Given the description of an element on the screen output the (x, y) to click on. 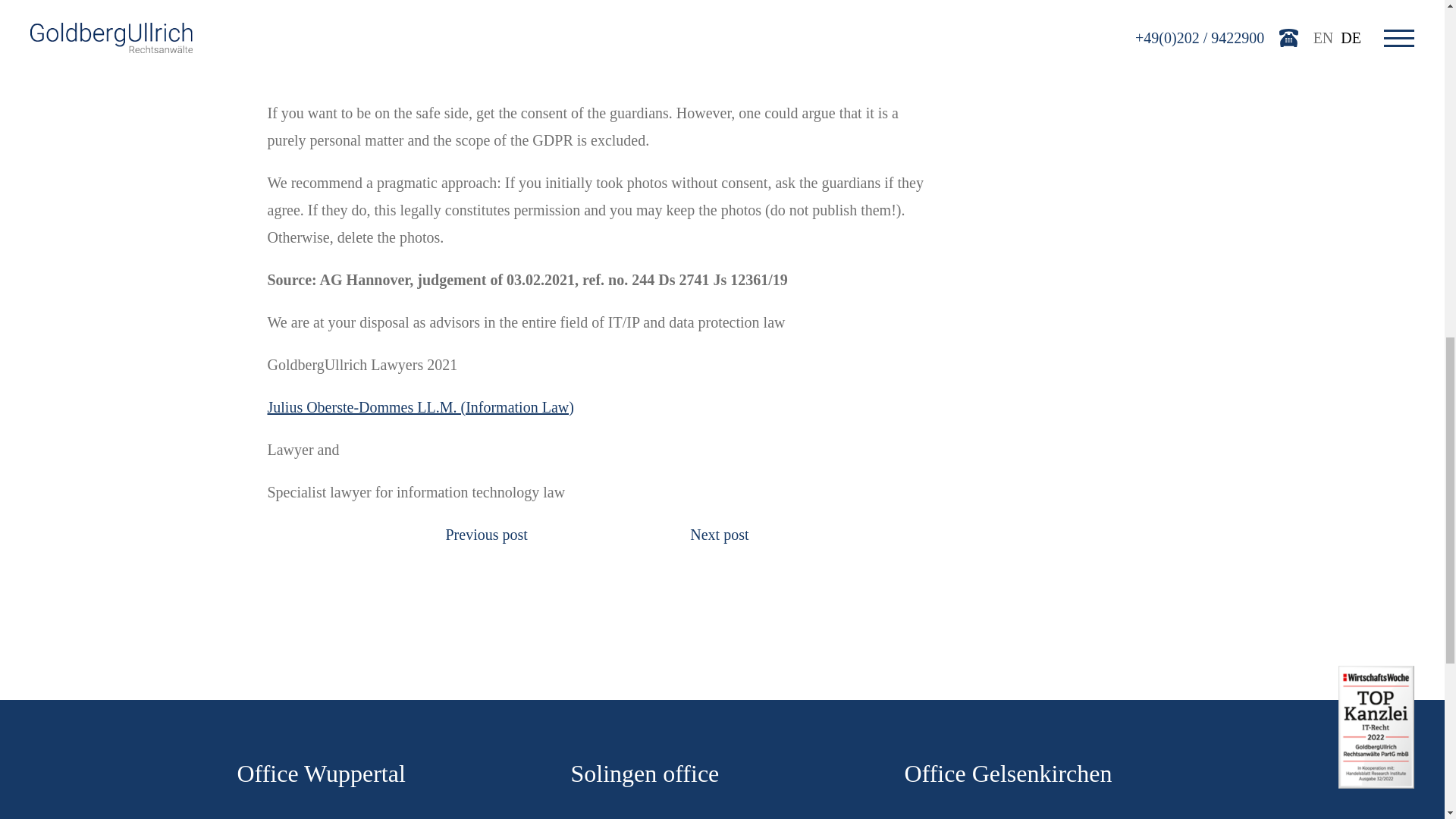
Previous post (486, 534)
Next post (719, 534)
